Given the description of an element on the screen output the (x, y) to click on. 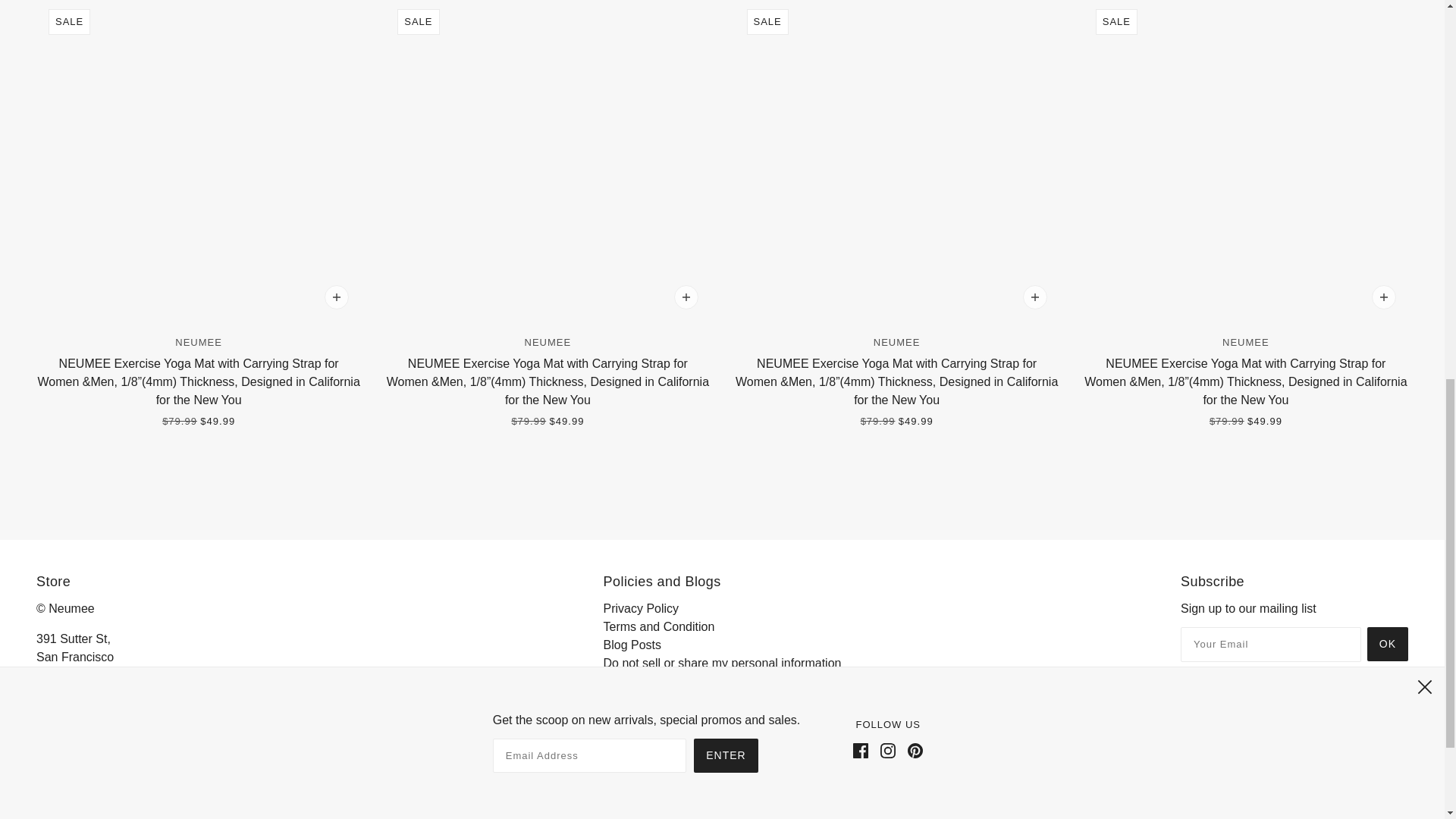
Do not sell or share my personal information (722, 662)
Privacy Policy (641, 608)
Blog Posts (632, 644)
Terms and Condition (659, 626)
